Given the description of an element on the screen output the (x, y) to click on. 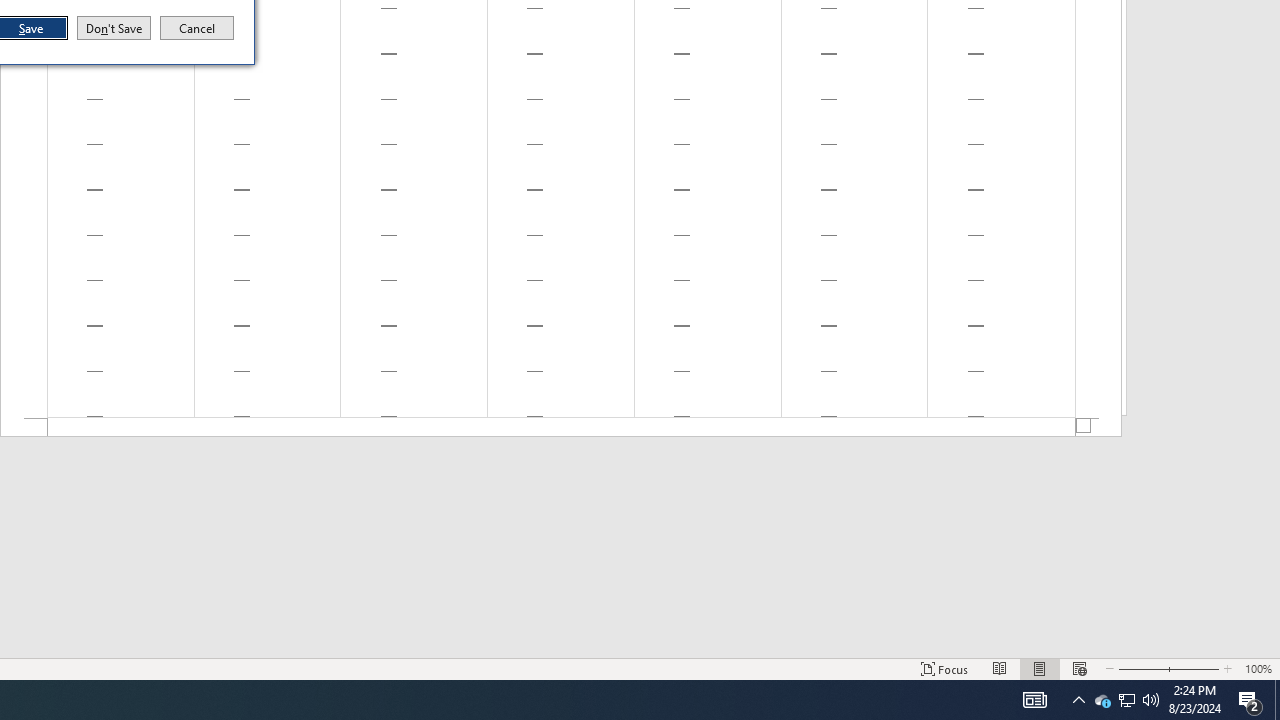
Action Center, 2 new notifications (1126, 699)
AutomationID: 4105 (1250, 699)
Notification Chevron (1034, 699)
